Given the description of an element on the screen output the (x, y) to click on. 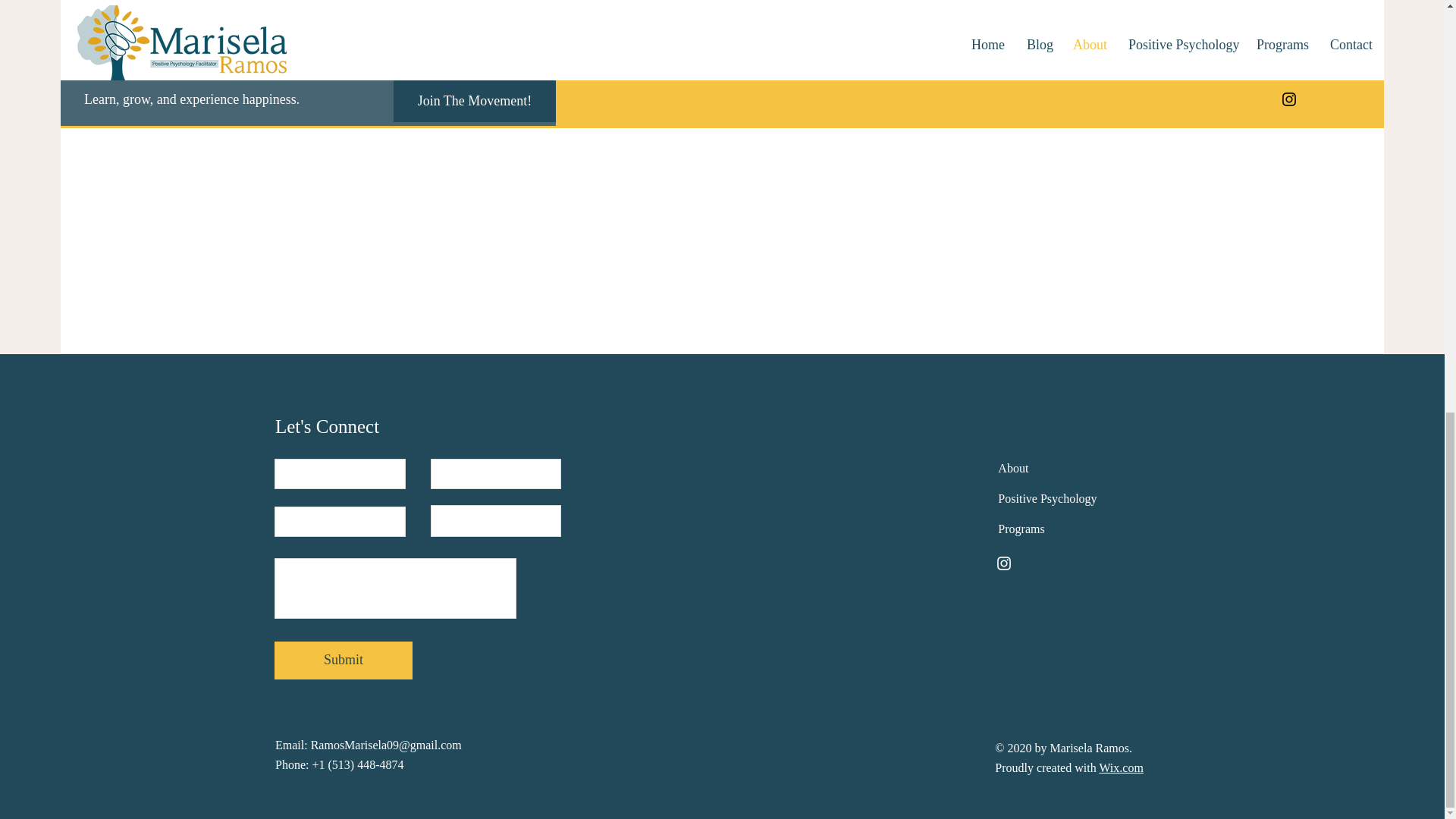
About (1012, 468)
Programs (1020, 528)
Wix.com (1120, 767)
Positive Psychology (1046, 498)
Submit (343, 660)
